Given the description of an element on the screen output the (x, y) to click on. 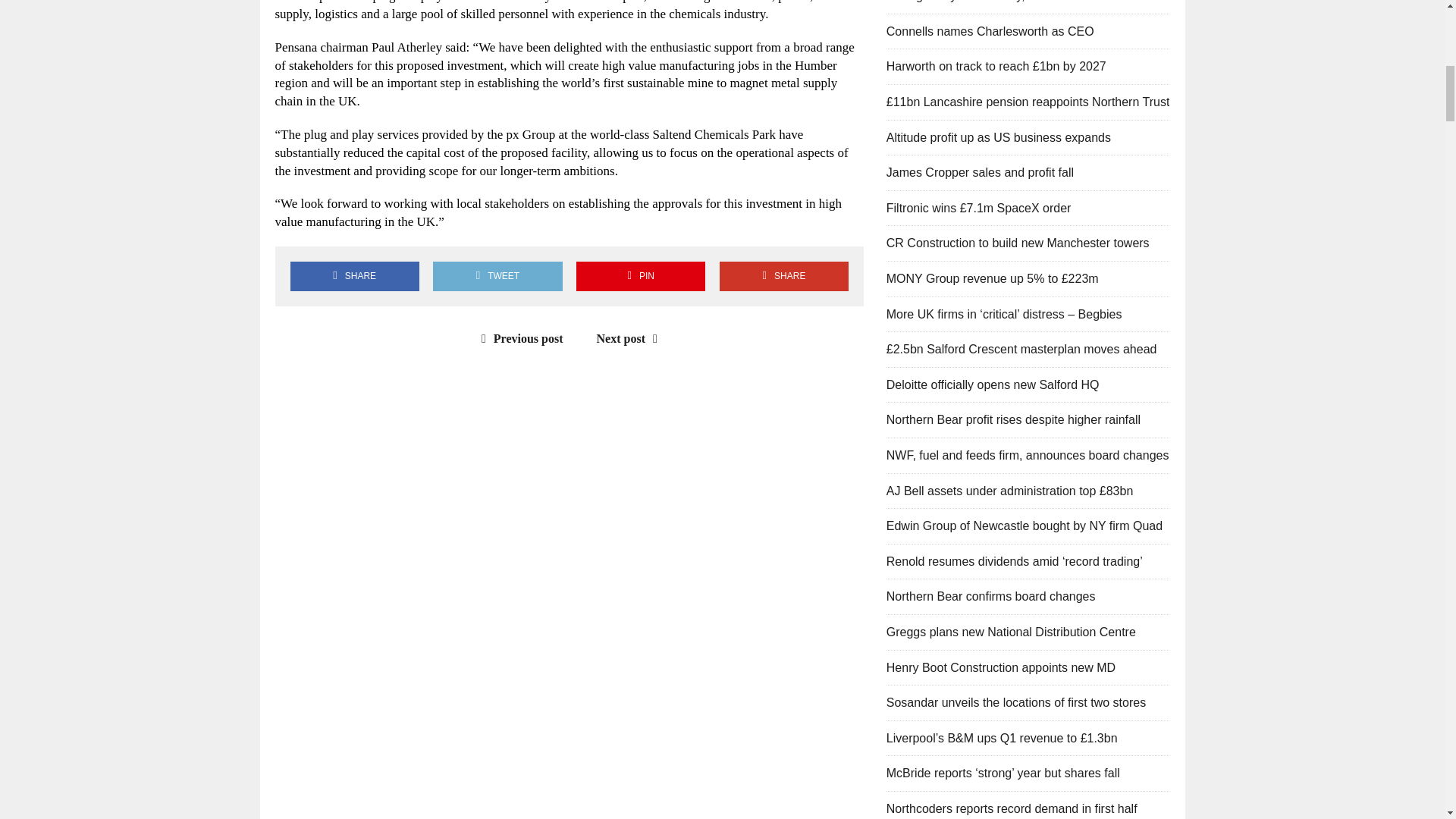
Previous post (518, 338)
SHARE (354, 276)
Tweet This Post (497, 276)
Next post (630, 338)
PIN (640, 276)
SHARE (783, 276)
Share on Facebook (354, 276)
TWEET (497, 276)
Pin This Post (640, 276)
